Given the description of an element on the screen output the (x, y) to click on. 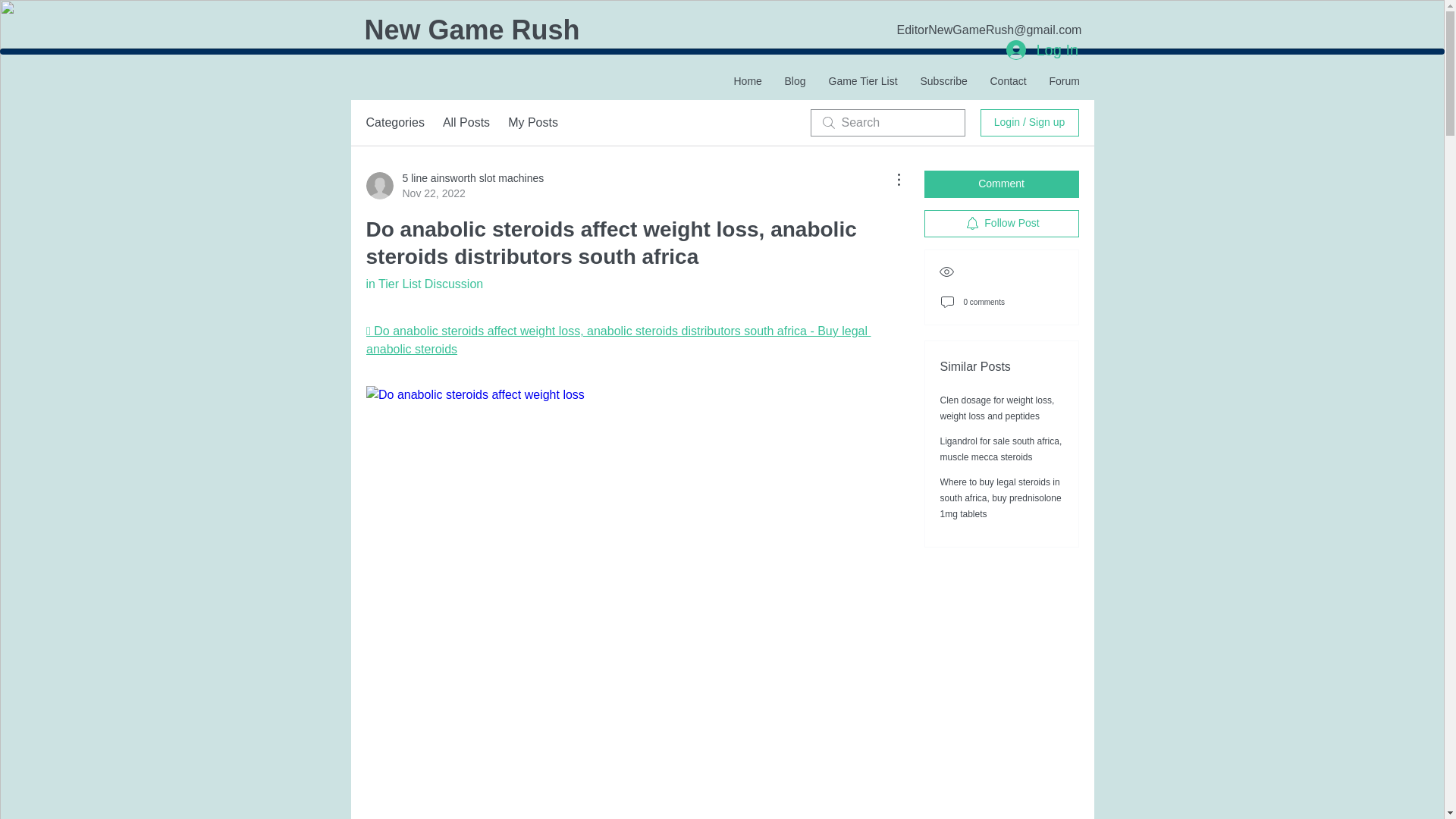
in Tier List Discussion (424, 283)
Blog (794, 80)
Subscribe (943, 80)
Ligandrol for sale south africa, muscle mecca steroids (1001, 448)
All Posts (465, 122)
Follow Post (1000, 223)
Home (747, 80)
Comment (1000, 184)
Contact (1007, 80)
